Given the description of an element on the screen output the (x, y) to click on. 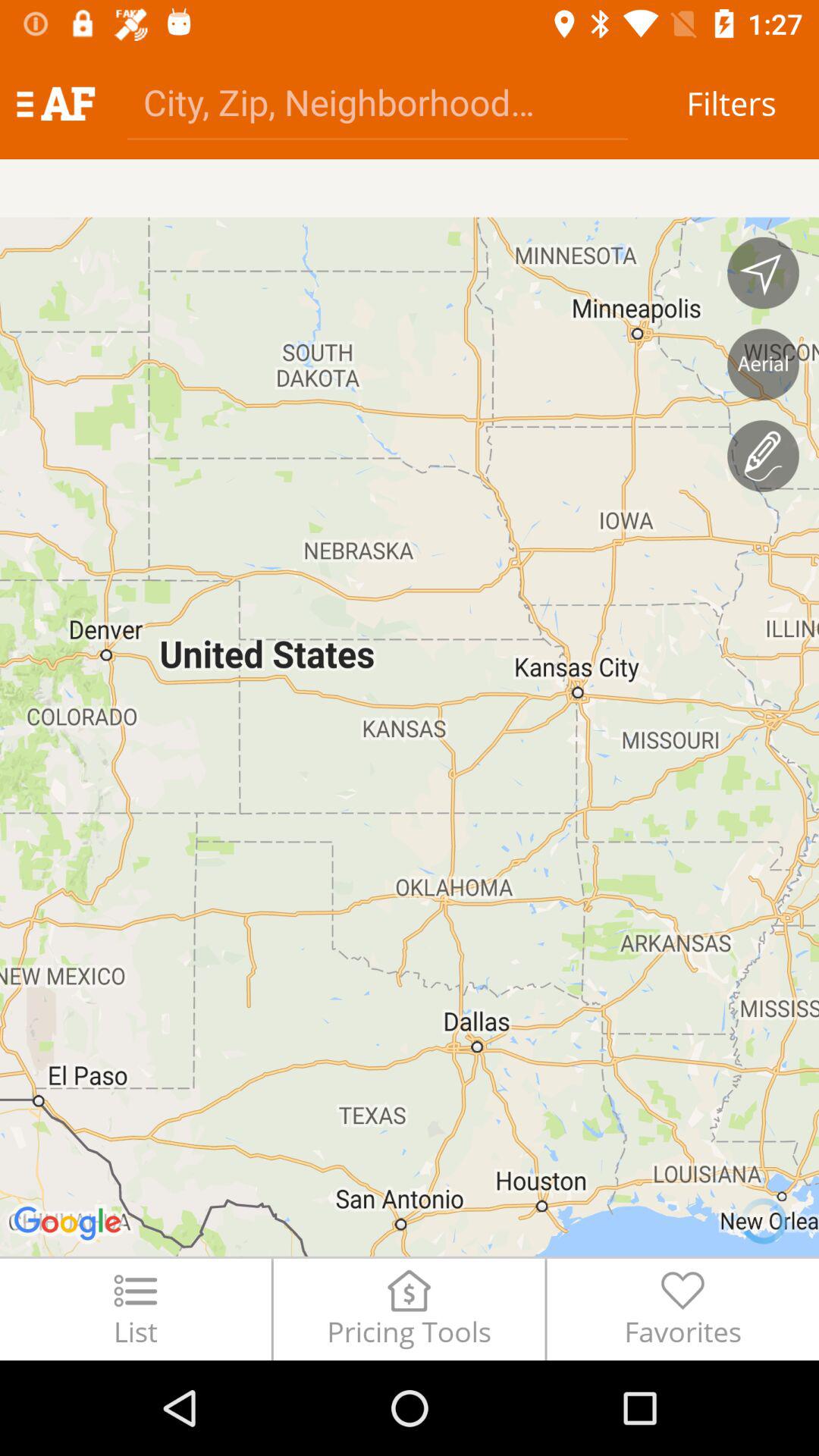
open the favorites (683, 1309)
